Given the description of an element on the screen output the (x, y) to click on. 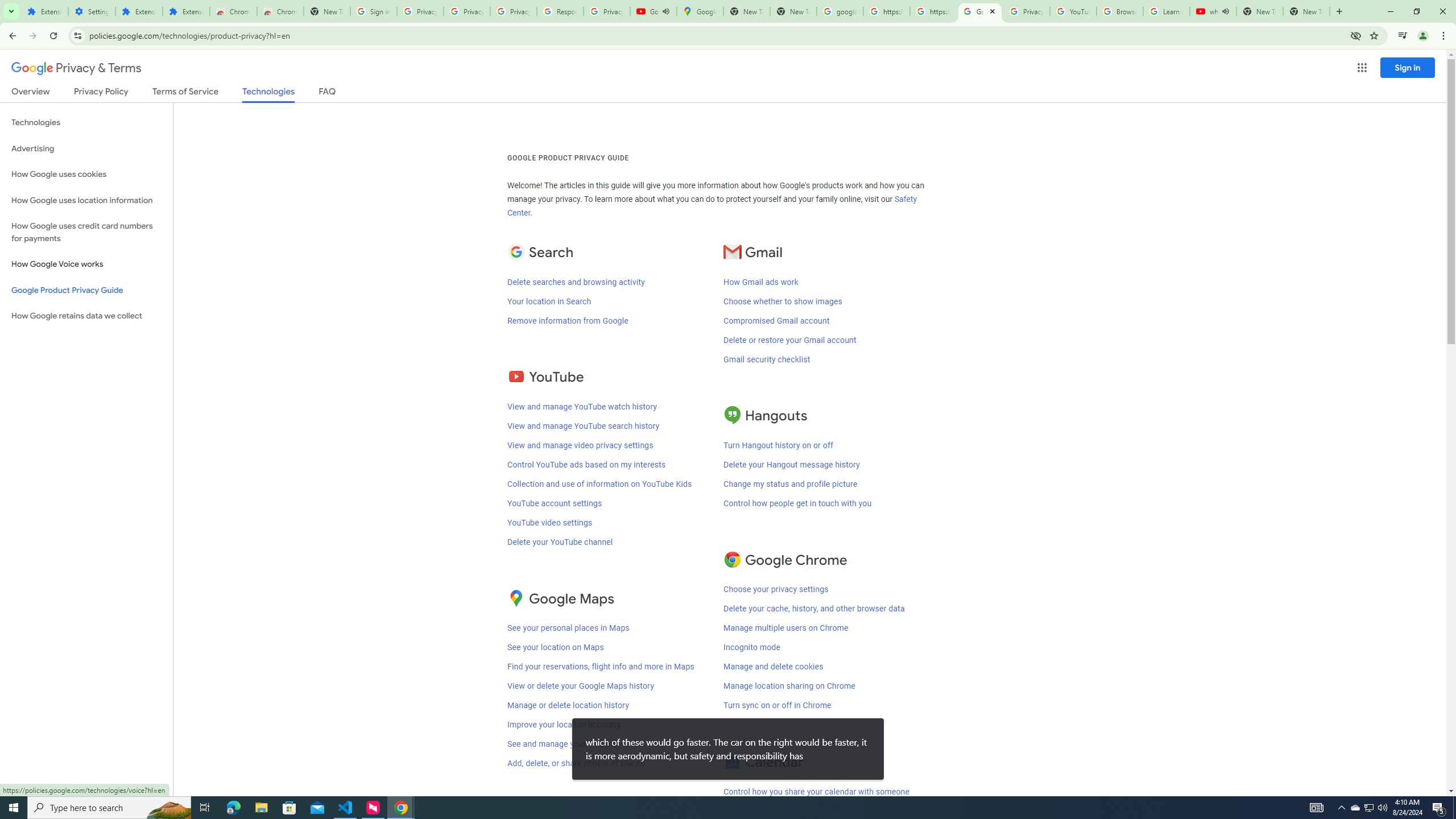
Extensions (138, 11)
Improve your location accuracy (563, 724)
Delete your Hangout message history (791, 464)
Delete searches and browsing activity (575, 281)
Control how people get in touch with you (797, 502)
https://scholar.google.com/ (886, 11)
Manage or delete location history (567, 705)
YouTube (1073, 11)
Manage location sharing on Chrome (789, 686)
